Given the description of an element on the screen output the (x, y) to click on. 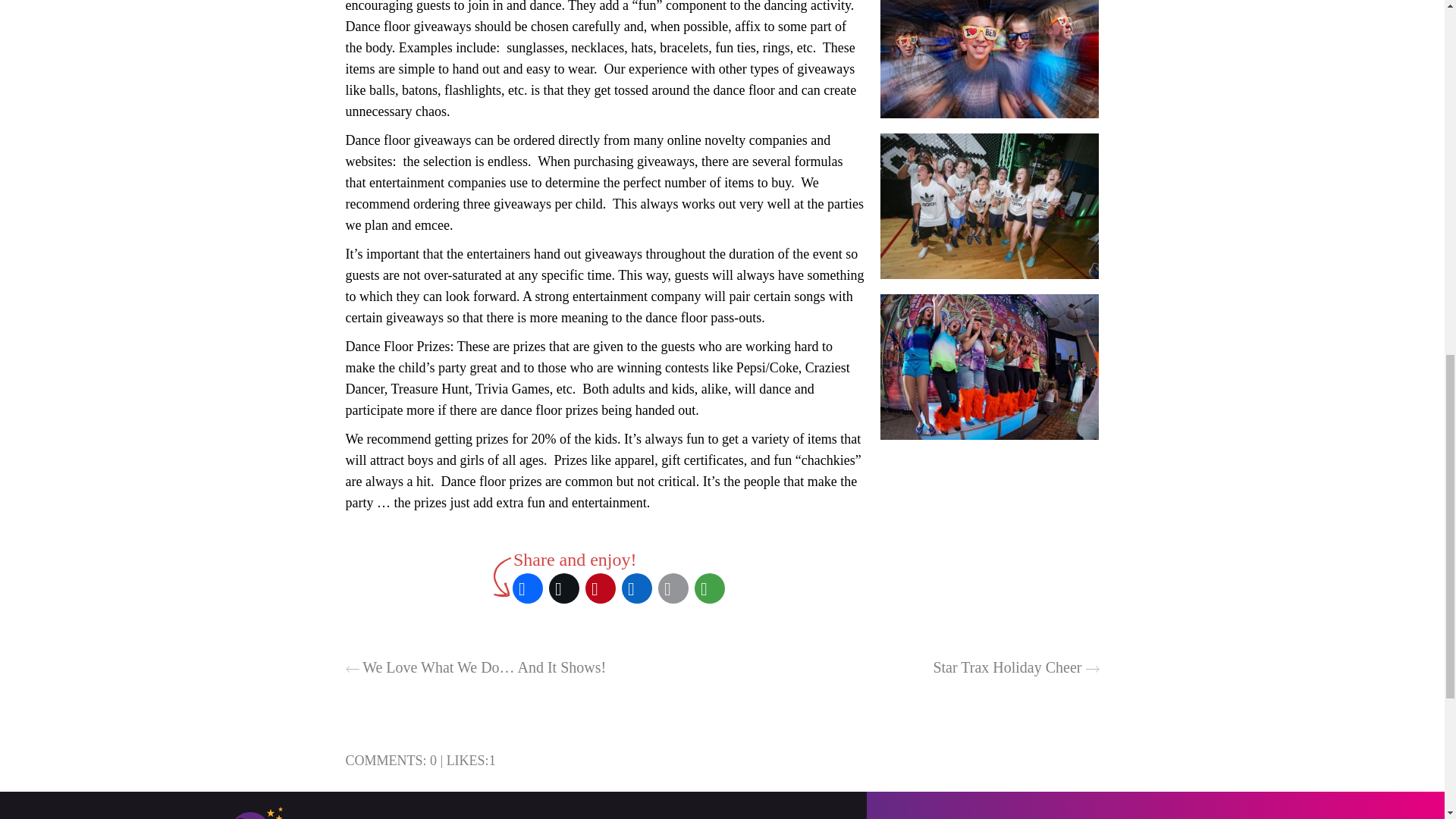
More Options (709, 588)
Facebook (527, 588)
Pinterest (600, 588)
Email This (673, 588)
LinkedIn (636, 588)
